Given the description of an element on the screen output the (x, y) to click on. 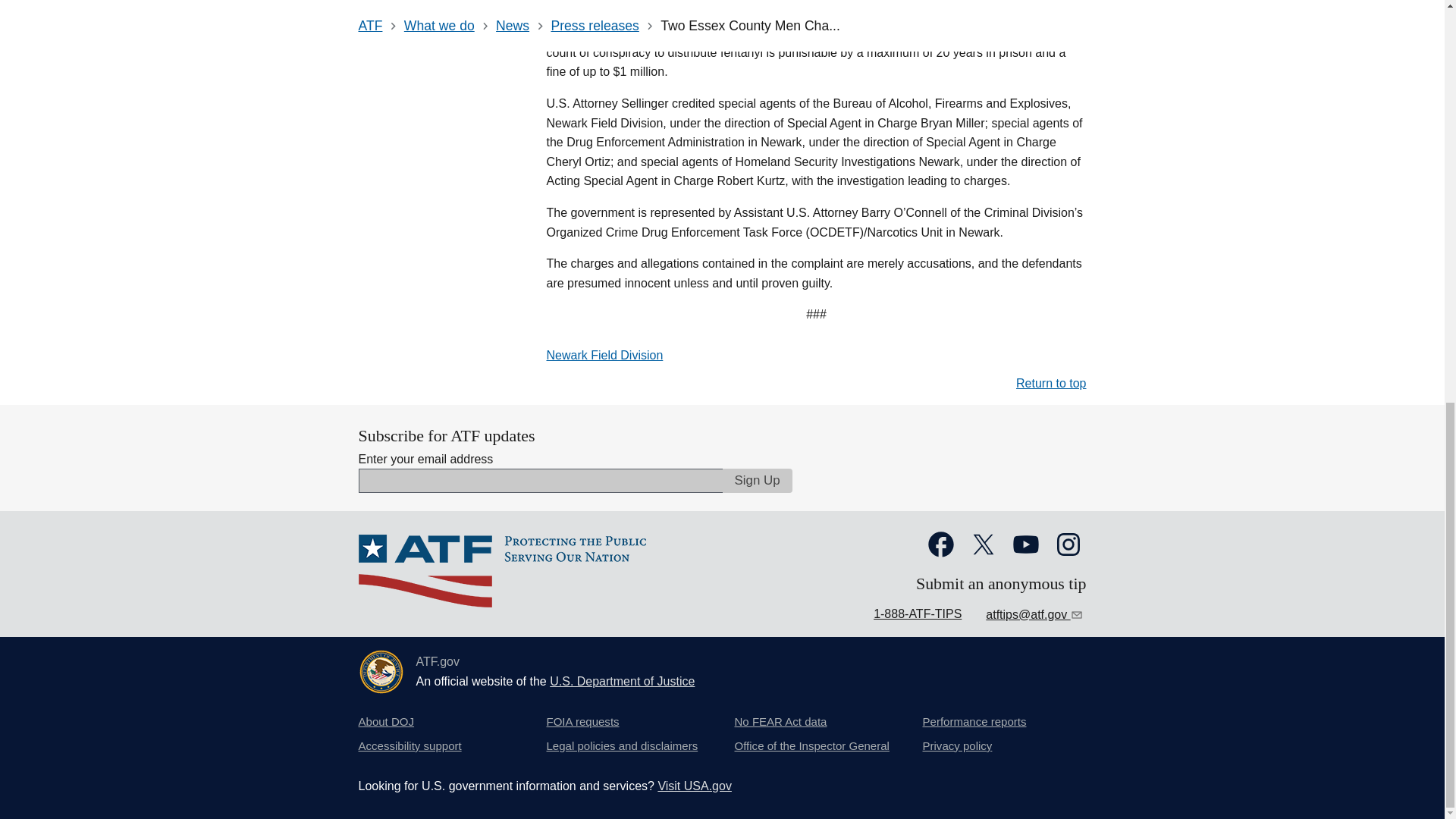
Office of the Inspector General (810, 746)
Return to top (1051, 382)
Privacy policy (956, 746)
U.S. Department of Justice (622, 680)
About DOJ (385, 721)
Visit USA.gov (695, 786)
FOIA requests (582, 721)
Newark Field Division (604, 354)
Performance reports (973, 721)
Legal policies and disclaimers (621, 746)
